Given the description of an element on the screen output the (x, y) to click on. 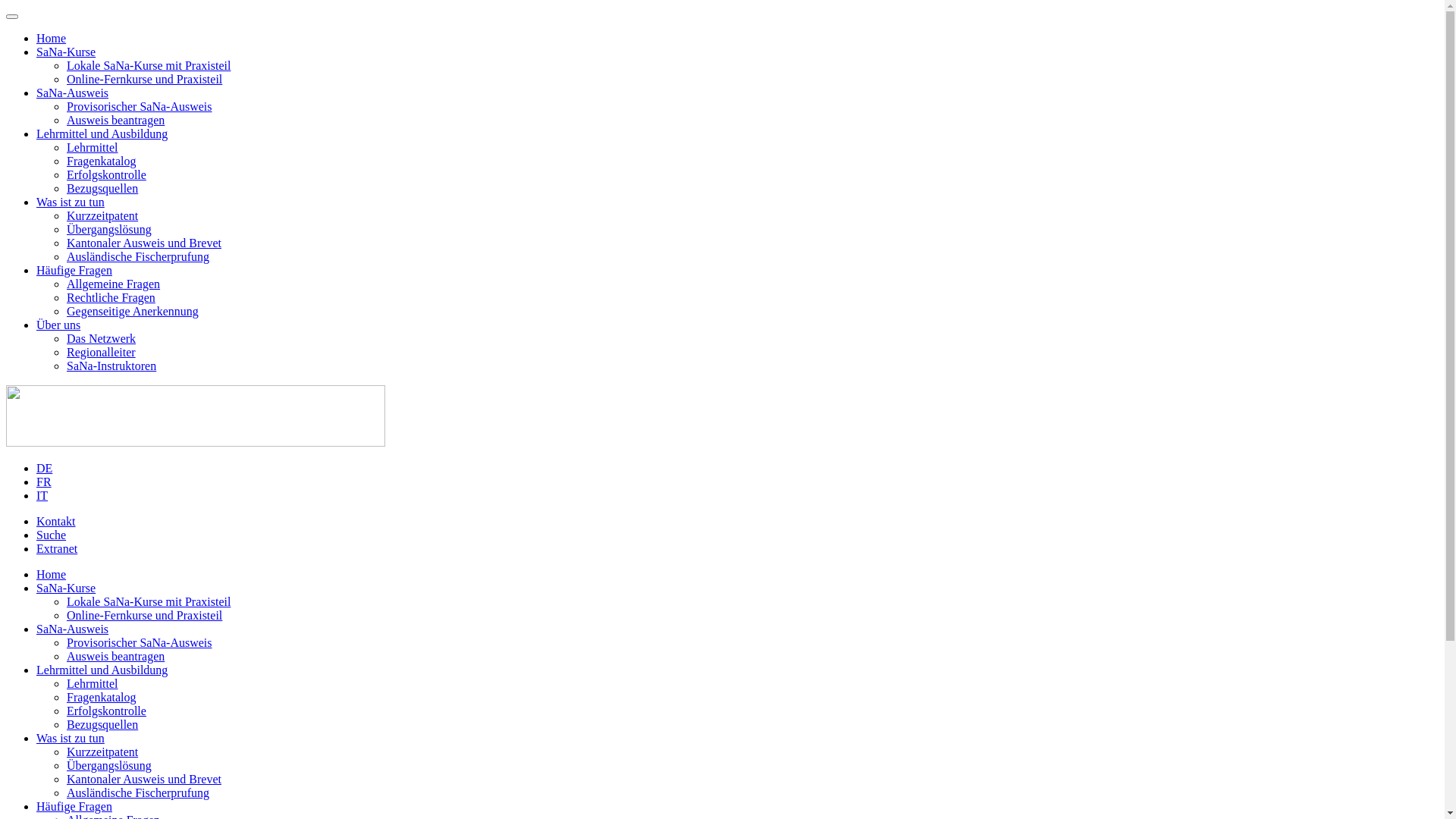
Was ist zu tun Element type: text (70, 201)
Ausweis beantragen Element type: text (115, 119)
Lehrmittel und Ausbildung Element type: text (101, 133)
Ausweis beantragen Element type: text (115, 655)
Allgemeine Fragen Element type: text (113, 283)
Was ist zu tun Element type: text (70, 737)
Bezugsquellen Element type: text (102, 188)
DE Element type: text (44, 467)
SaNa-Kurse Element type: text (65, 51)
SaNa-Kurse Element type: text (65, 587)
Kantonaler Ausweis und Brevet Element type: text (143, 778)
Regionalleiter Element type: text (100, 351)
Kurzzeitpatent Element type: text (102, 751)
Lehrmittel Element type: text (92, 147)
IT Element type: text (41, 495)
Fragenkatalog Element type: text (101, 696)
Home Element type: text (50, 37)
Lokale SaNa-Kurse mit Praxisteil Element type: text (148, 65)
Bezugsquellen Element type: text (102, 724)
Kurzzeitpatent Element type: text (102, 215)
Suche Element type: text (50, 534)
SaNa-Ausweis Element type: text (72, 92)
Home Element type: text (50, 573)
Provisorischer SaNa-Ausweis Element type: text (139, 106)
Lehrmittel Element type: text (92, 683)
Das Netzwerk Element type: text (100, 338)
SaNa-Instruktoren Element type: text (111, 365)
Erfolgskontrolle Element type: text (106, 710)
Kontakt Element type: text (55, 520)
SaNa-Ausweis Element type: text (72, 628)
Erfolgskontrolle Element type: text (106, 174)
Gegenseitige Anerkennung Element type: text (132, 310)
Provisorischer SaNa-Ausweis Element type: text (139, 642)
Extranet Element type: text (56, 548)
Kantonaler Ausweis und Brevet Element type: text (143, 242)
Lehrmittel und Ausbildung Element type: text (101, 669)
Online-Fernkurse und Praxisteil Element type: text (144, 614)
Online-Fernkurse und Praxisteil Element type: text (144, 78)
Fragenkatalog Element type: text (101, 160)
FR Element type: text (43, 481)
Rechtliche Fragen Element type: text (110, 297)
Lokale SaNa-Kurse mit Praxisteil Element type: text (148, 601)
